Given the description of an element on the screen output the (x, y) to click on. 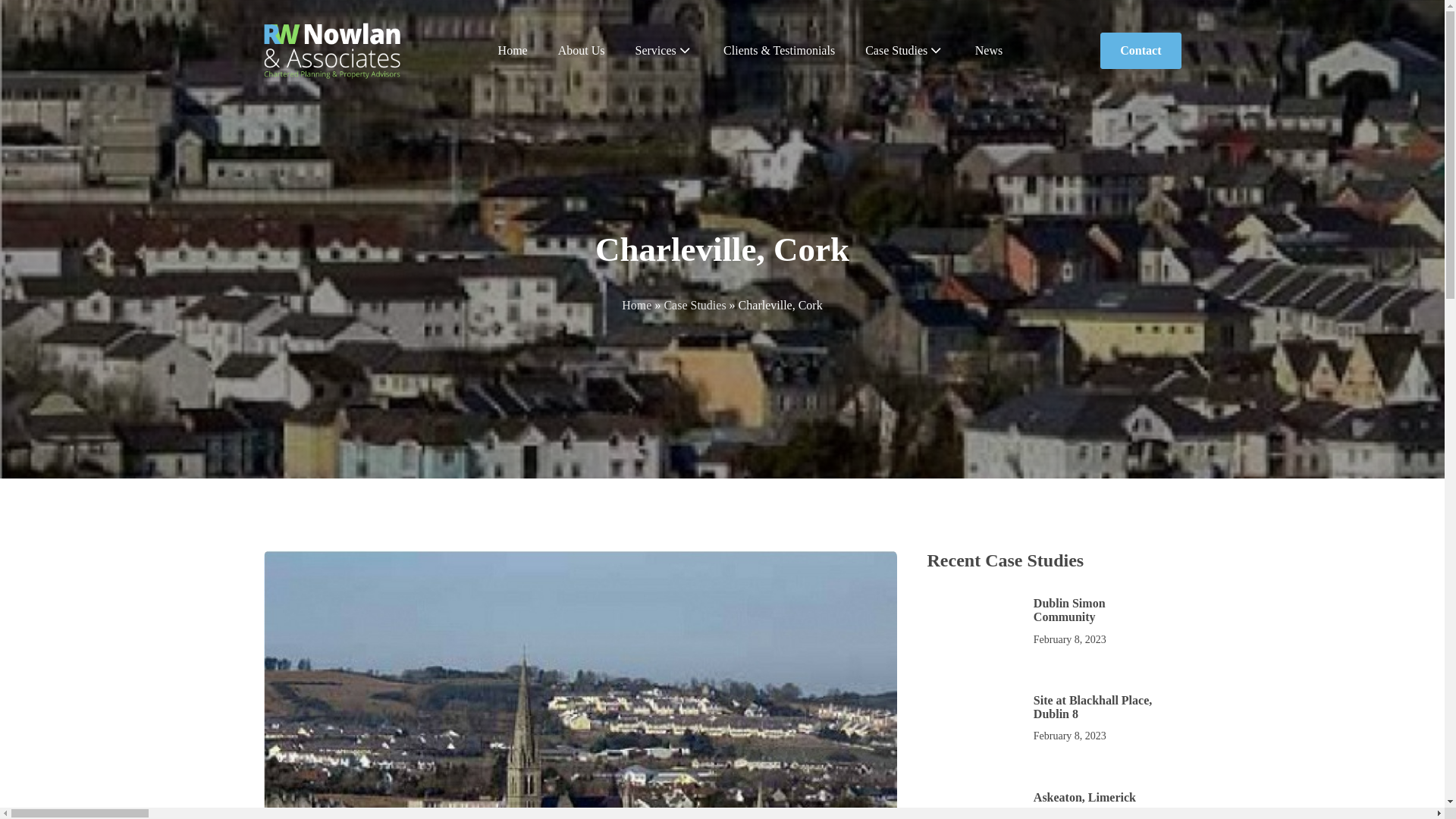
Home (635, 305)
About Us (1053, 622)
Case Studies (1053, 719)
Contact (581, 50)
Services (904, 50)
Case Studies (1140, 50)
